Given the description of an element on the screen output the (x, y) to click on. 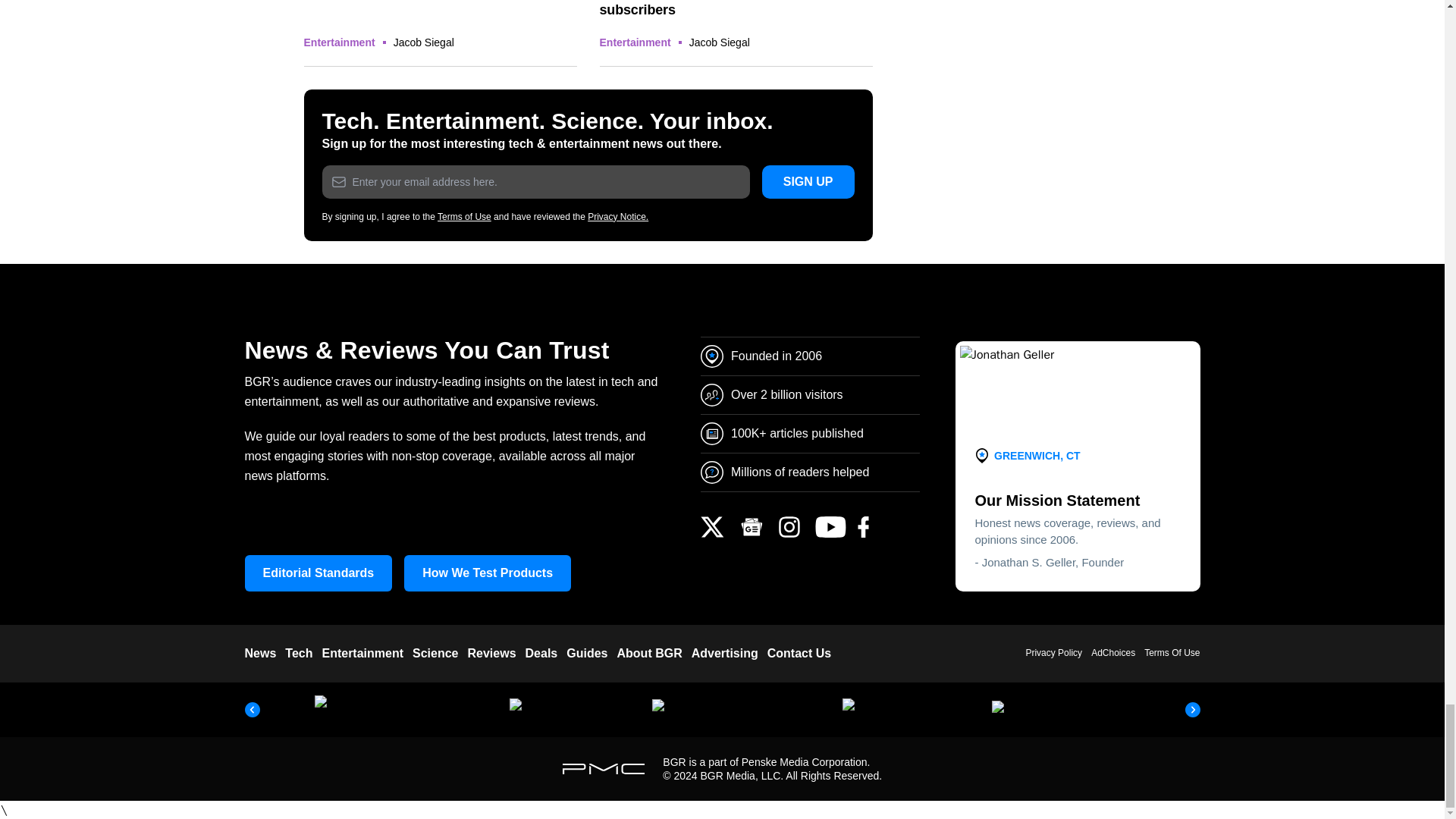
Posts by Jacob Siegal (718, 42)
Posts by Jacob Siegal (423, 42)
